Given the description of an element on the screen output the (x, y) to click on. 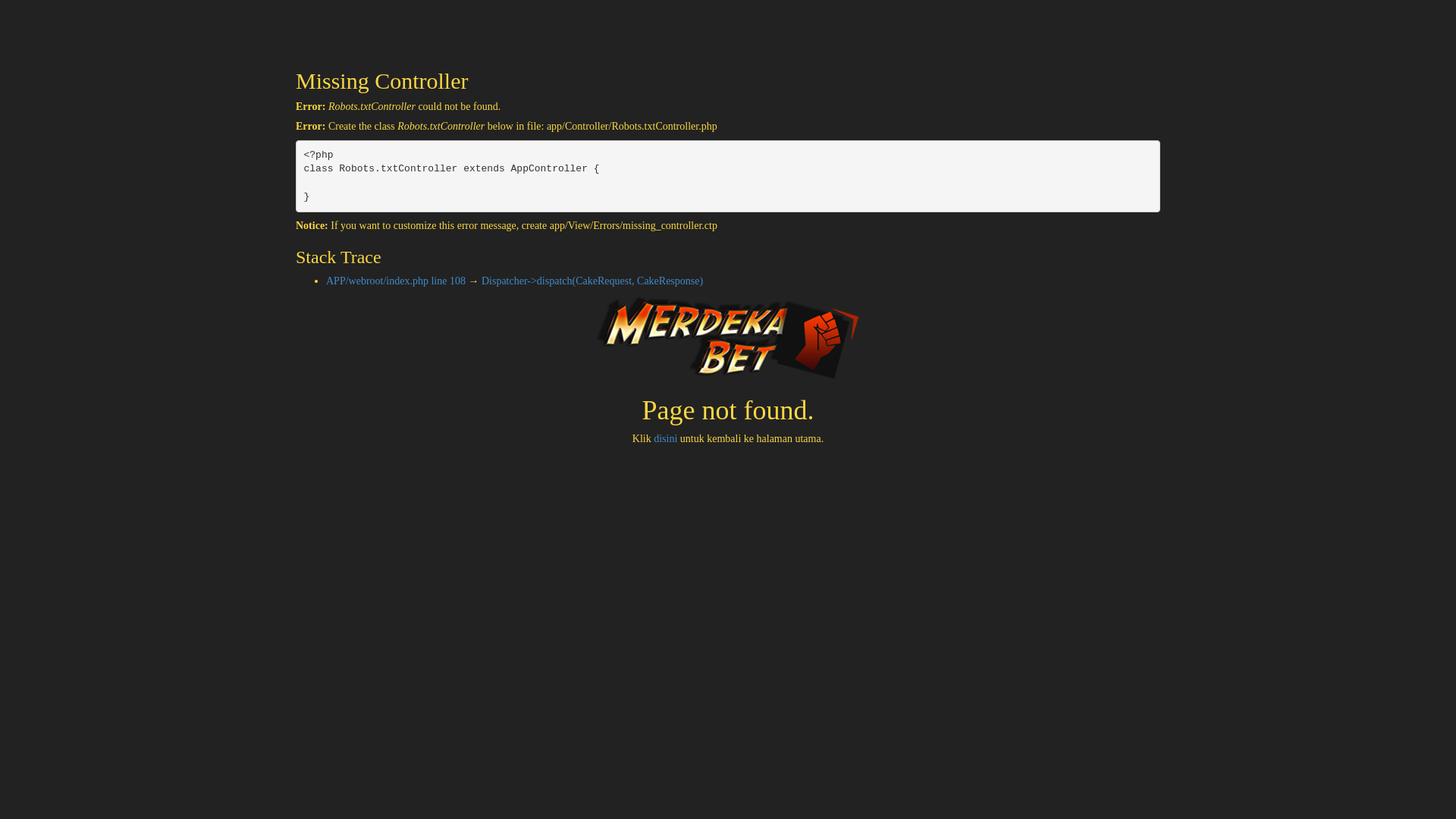
disini Element type: text (665, 438)
APP/webroot/index.php line 108 Element type: text (395, 280)
Dispatcher->dispatch(CakeRequest, CakeResponse) Element type: text (591, 280)
